Given the description of an element on the screen output the (x, y) to click on. 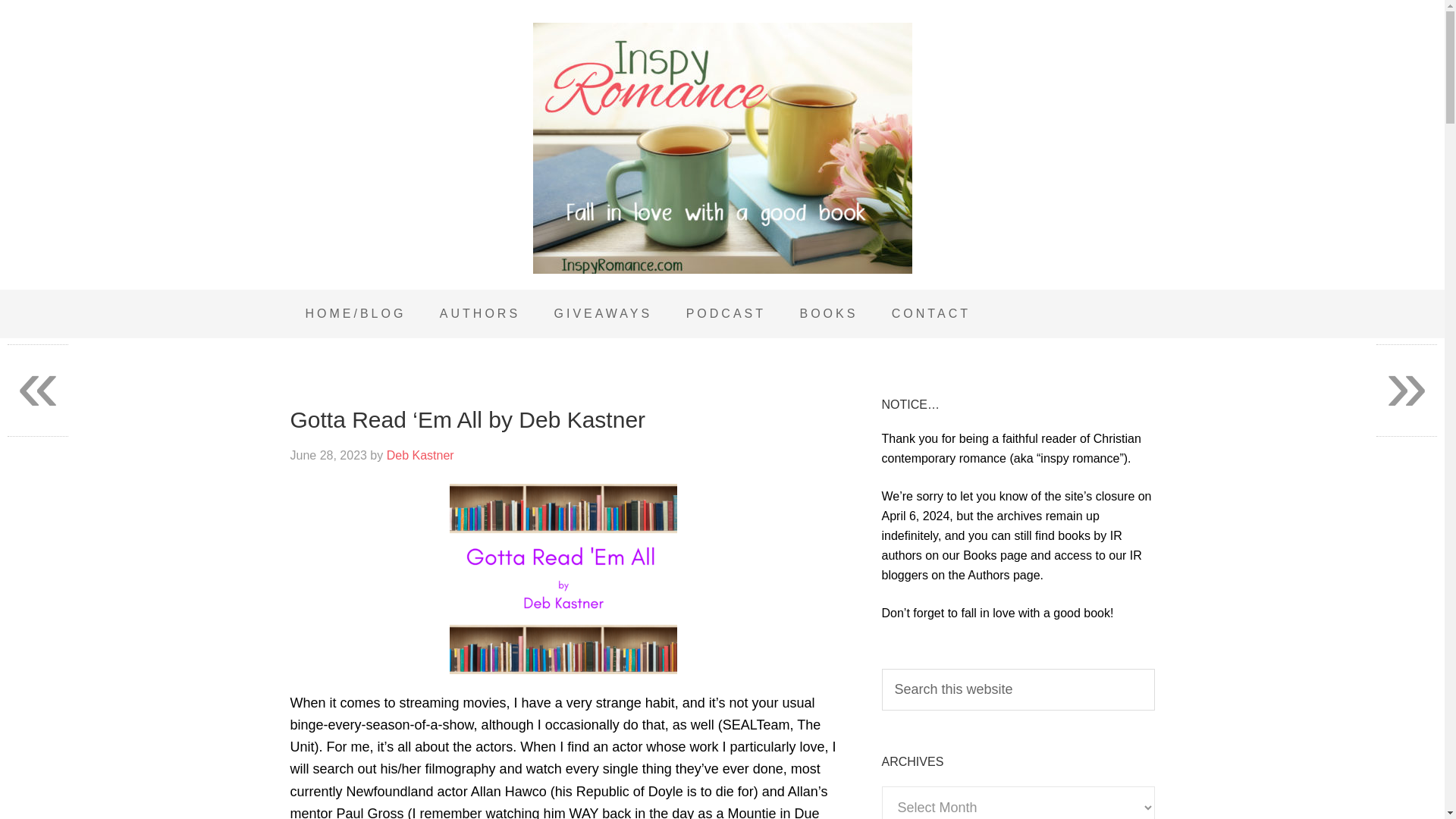
GIVEAWAYS (603, 313)
PODCAST (725, 313)
Deb Kastner (420, 454)
CONTACT (930, 313)
BOOKS (828, 313)
AUTHORS (480, 313)
